Given the description of an element on the screen output the (x, y) to click on. 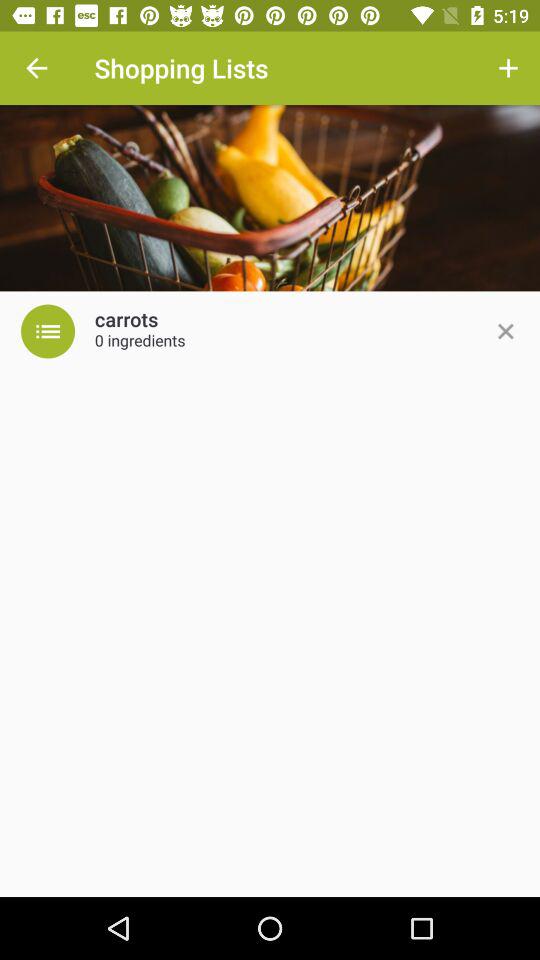
click the icon above 0 ingredients (126, 319)
